Given the description of an element on the screen output the (x, y) to click on. 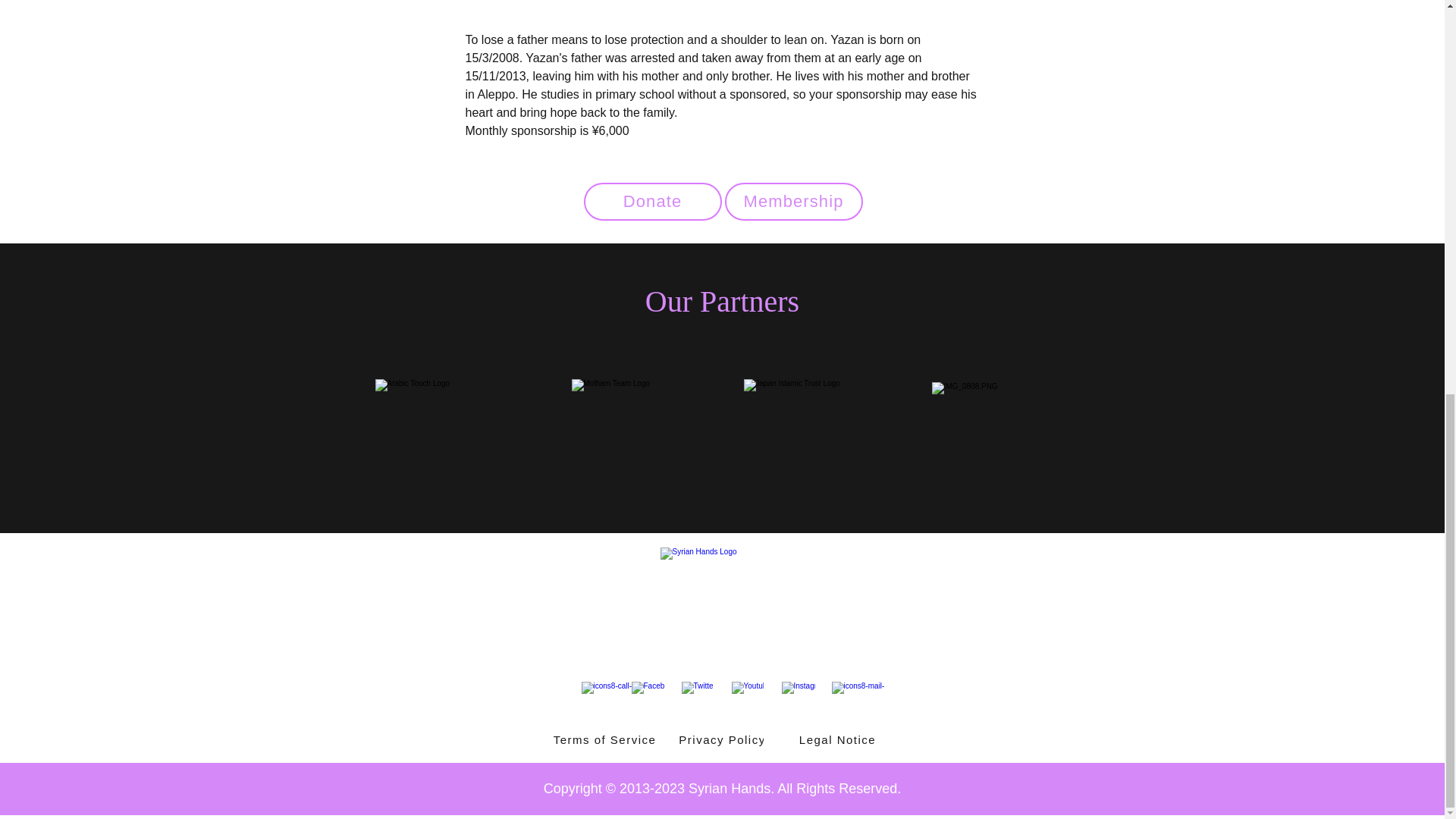
Membership (794, 201)
Terms of Service (605, 738)
Donate (652, 201)
Privacy Policy (723, 738)
